Given the description of an element on the screen output the (x, y) to click on. 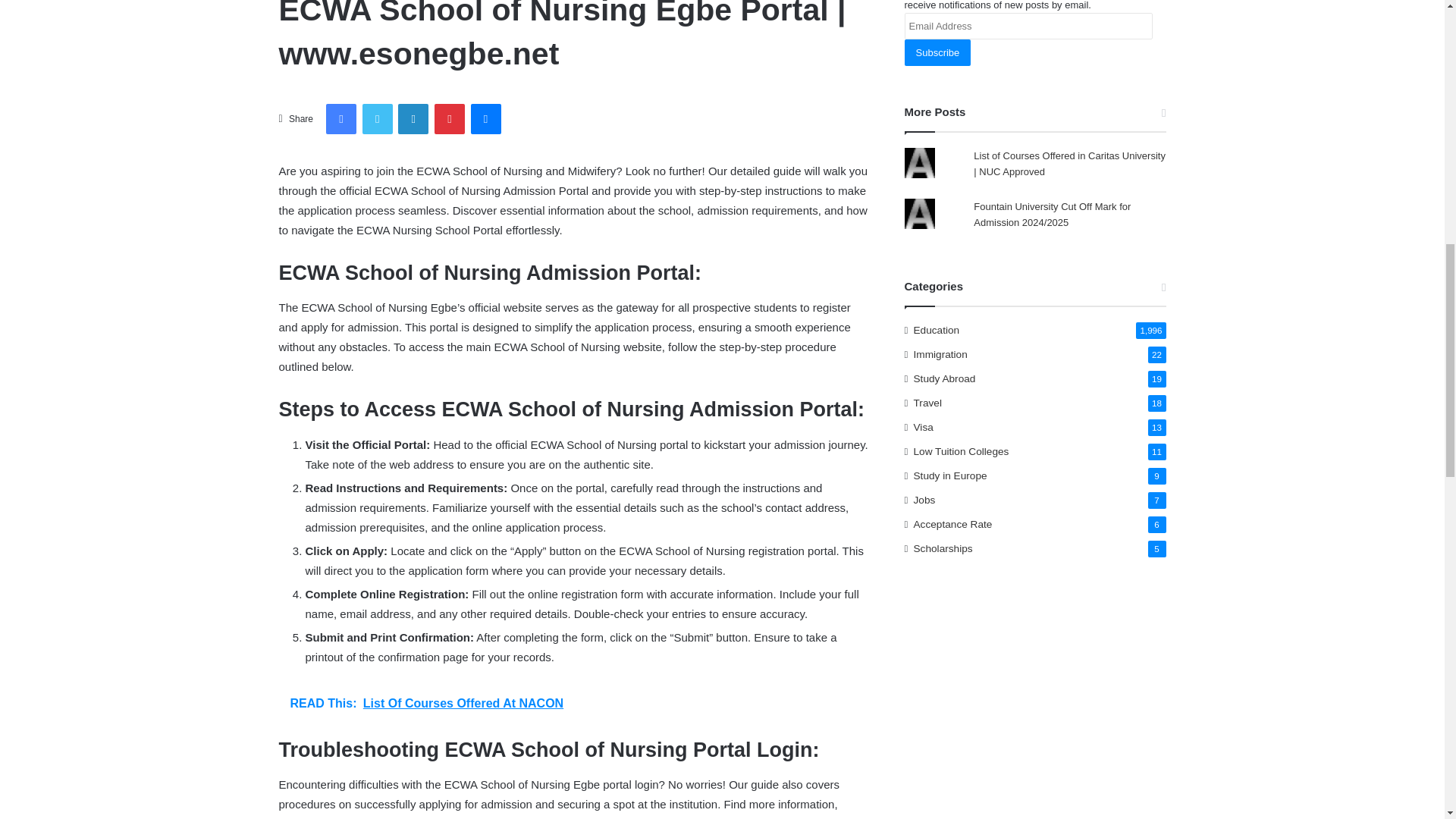
READ This:  List Of Courses Offered At NACON (574, 703)
LinkedIn (412, 119)
LinkedIn (412, 119)
Messenger (485, 119)
Pinterest (448, 119)
Twitter (377, 119)
Facebook (341, 119)
Twitter (377, 119)
Messenger (485, 119)
Facebook (341, 119)
Pinterest (448, 119)
